Given the description of an element on the screen output the (x, y) to click on. 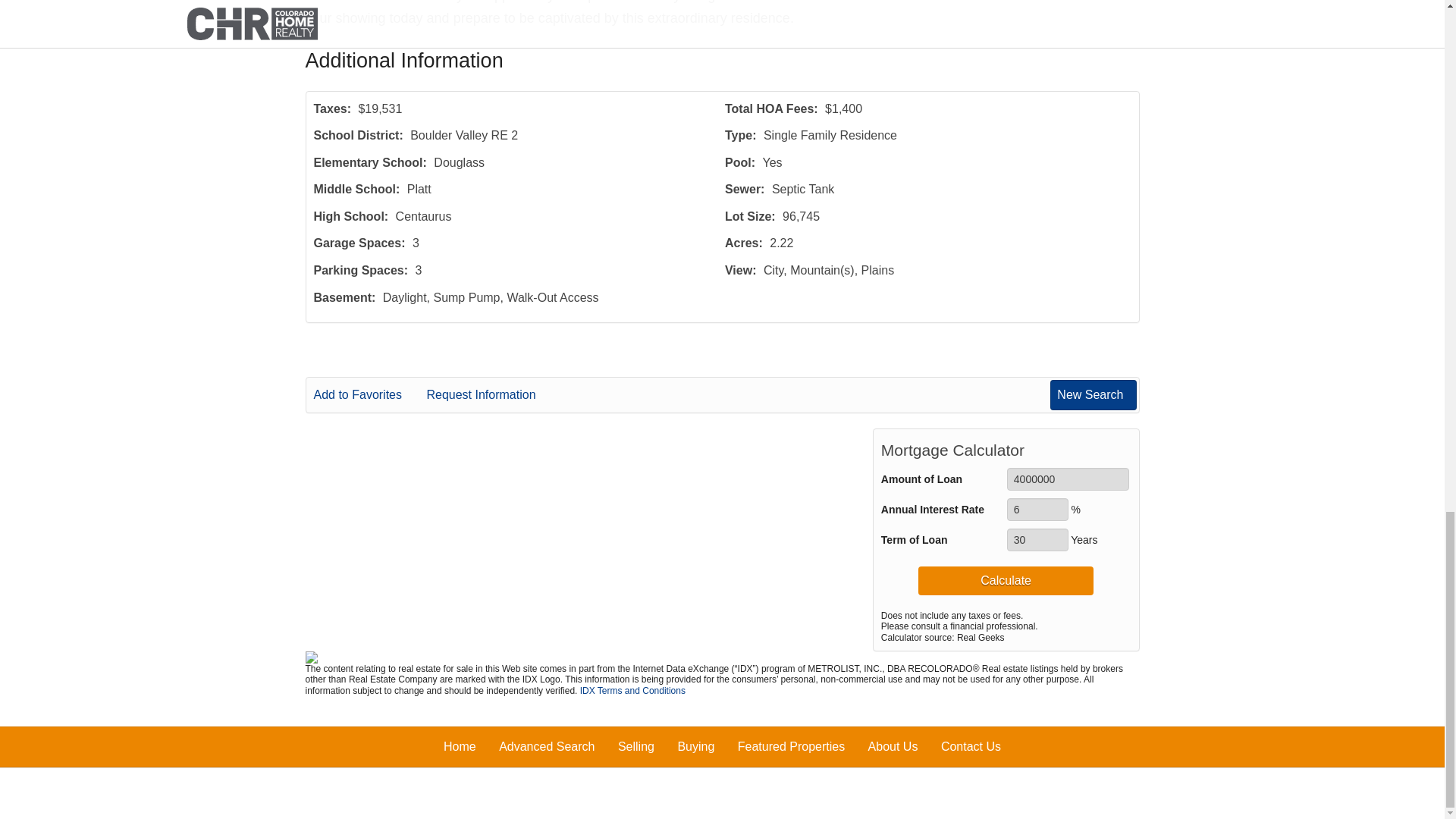
6 (1037, 508)
30 (1037, 539)
4000000 (1068, 478)
